Given the description of an element on the screen output the (x, y) to click on. 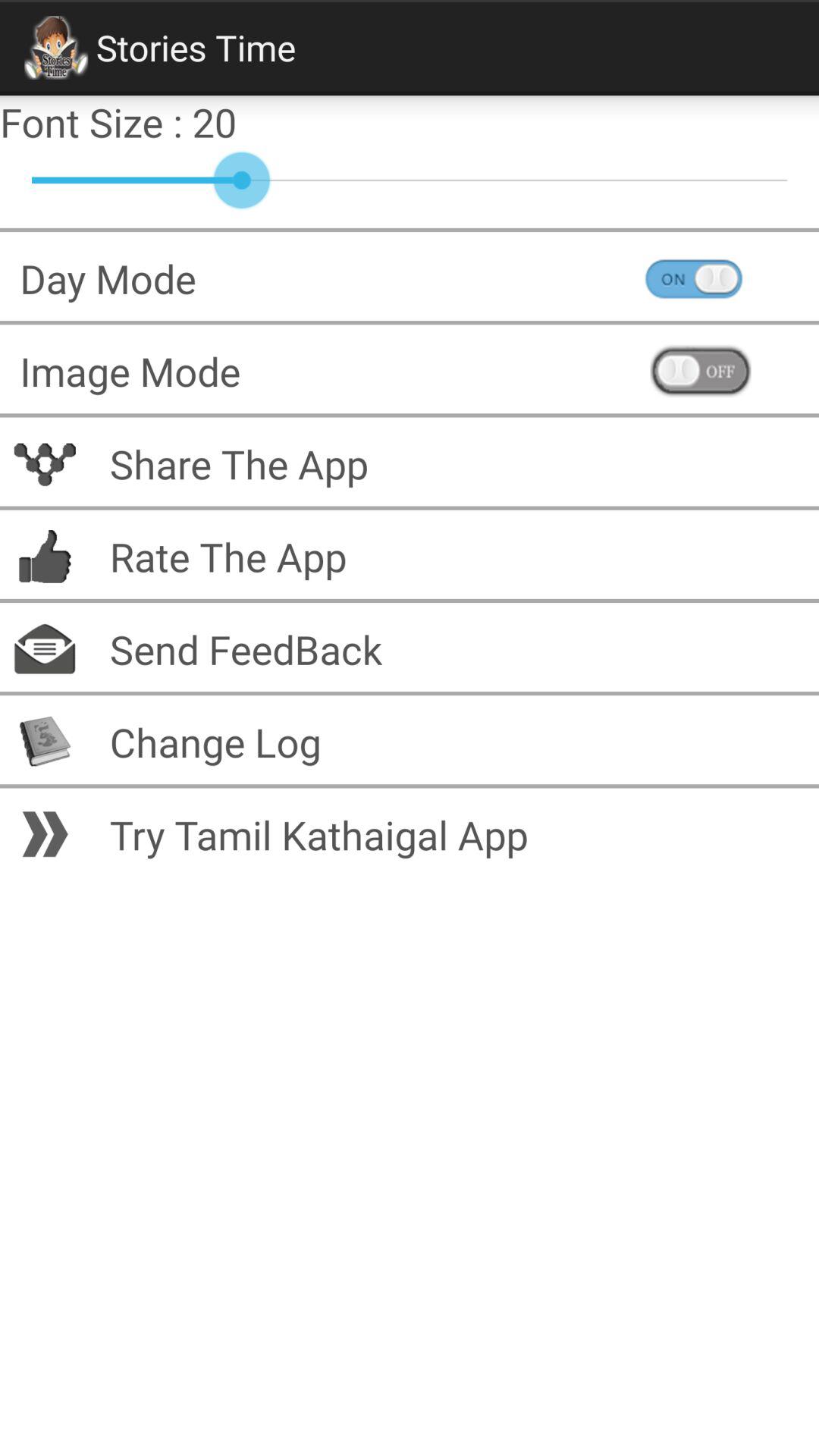
turn off the send feedback icon (235, 648)
